Given the description of an element on the screen output the (x, y) to click on. 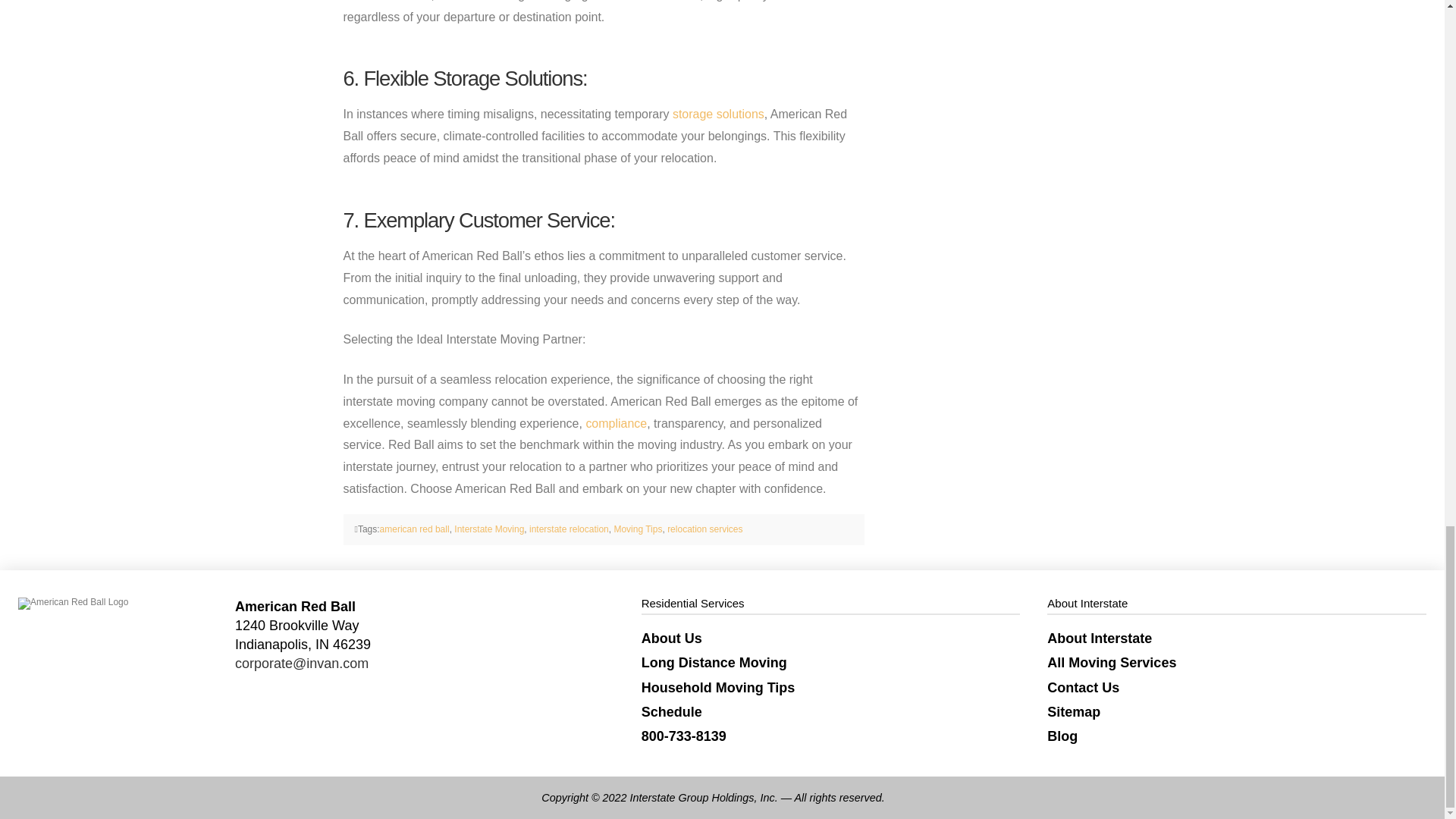
Moving Tips (637, 529)
Schedule (831, 711)
american red ball (414, 529)
Interstate Moving (489, 529)
About Interstate (1236, 638)
All Moving Services (1236, 662)
interstate relocation (568, 529)
About Us (831, 638)
Household Moving Tips (831, 686)
Long Distance Moving (831, 662)
